Given the description of an element on the screen output the (x, y) to click on. 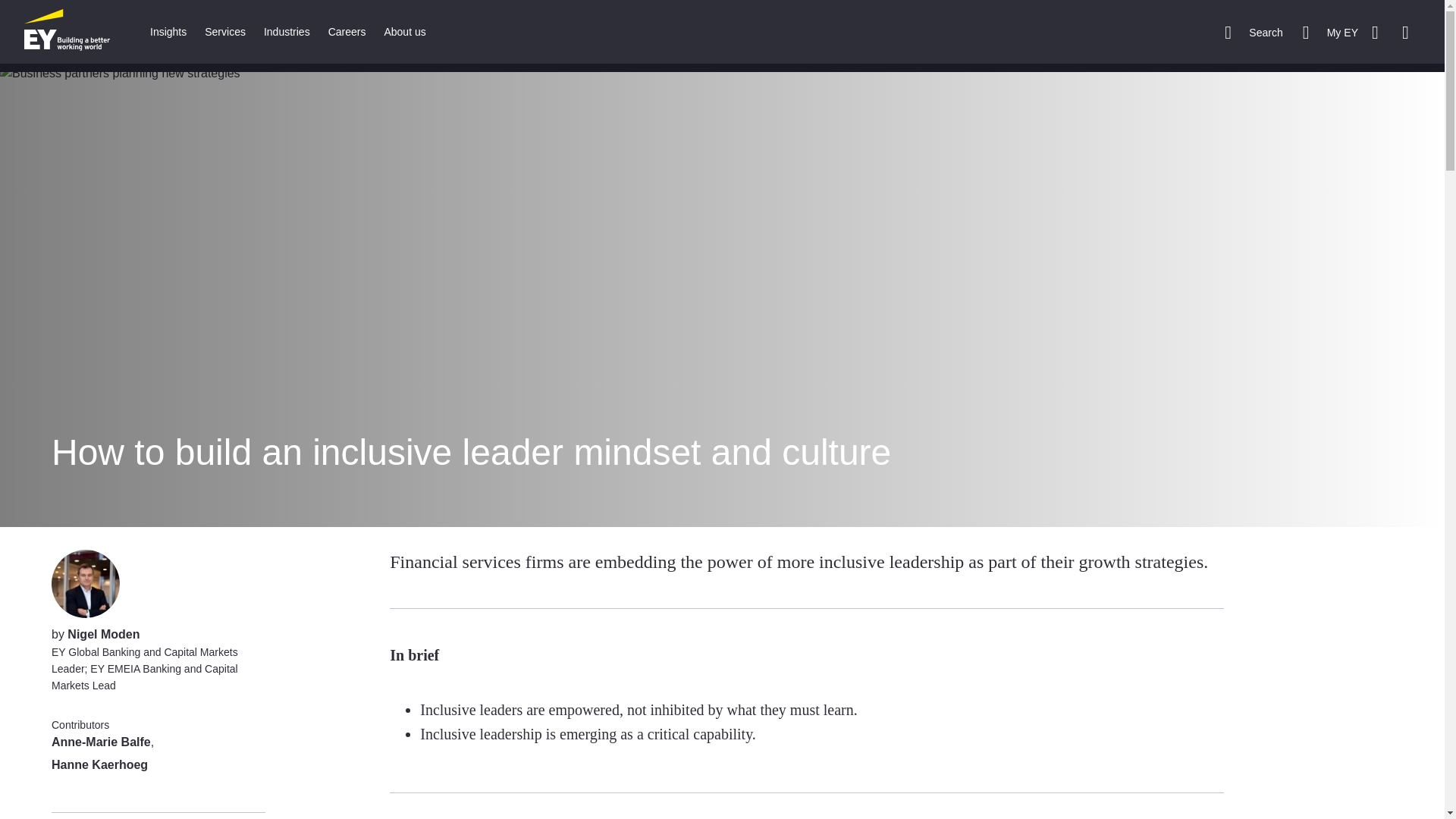
EY Logo (67, 32)
EY Logo (67, 32)
My EY (1329, 32)
Open search (1253, 32)
